Given the description of an element on the screen output the (x, y) to click on. 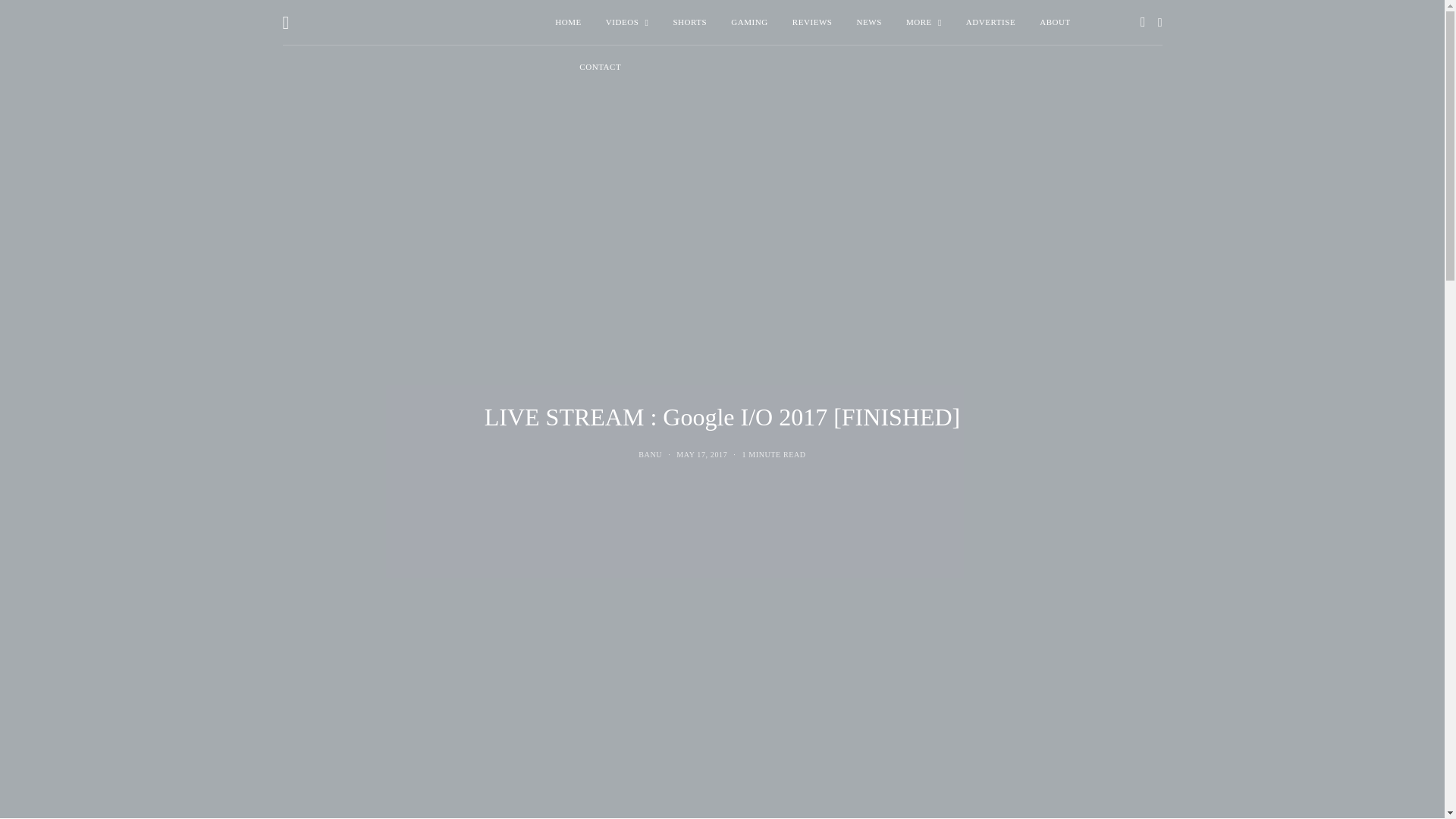
ADVERTISE (990, 22)
CONTACT (600, 67)
MAY 17, 2017 (701, 454)
VIDEOS (627, 22)
REVIEWS (812, 22)
View all posts by Banu (650, 454)
BANU (650, 454)
